Given the description of an element on the screen output the (x, y) to click on. 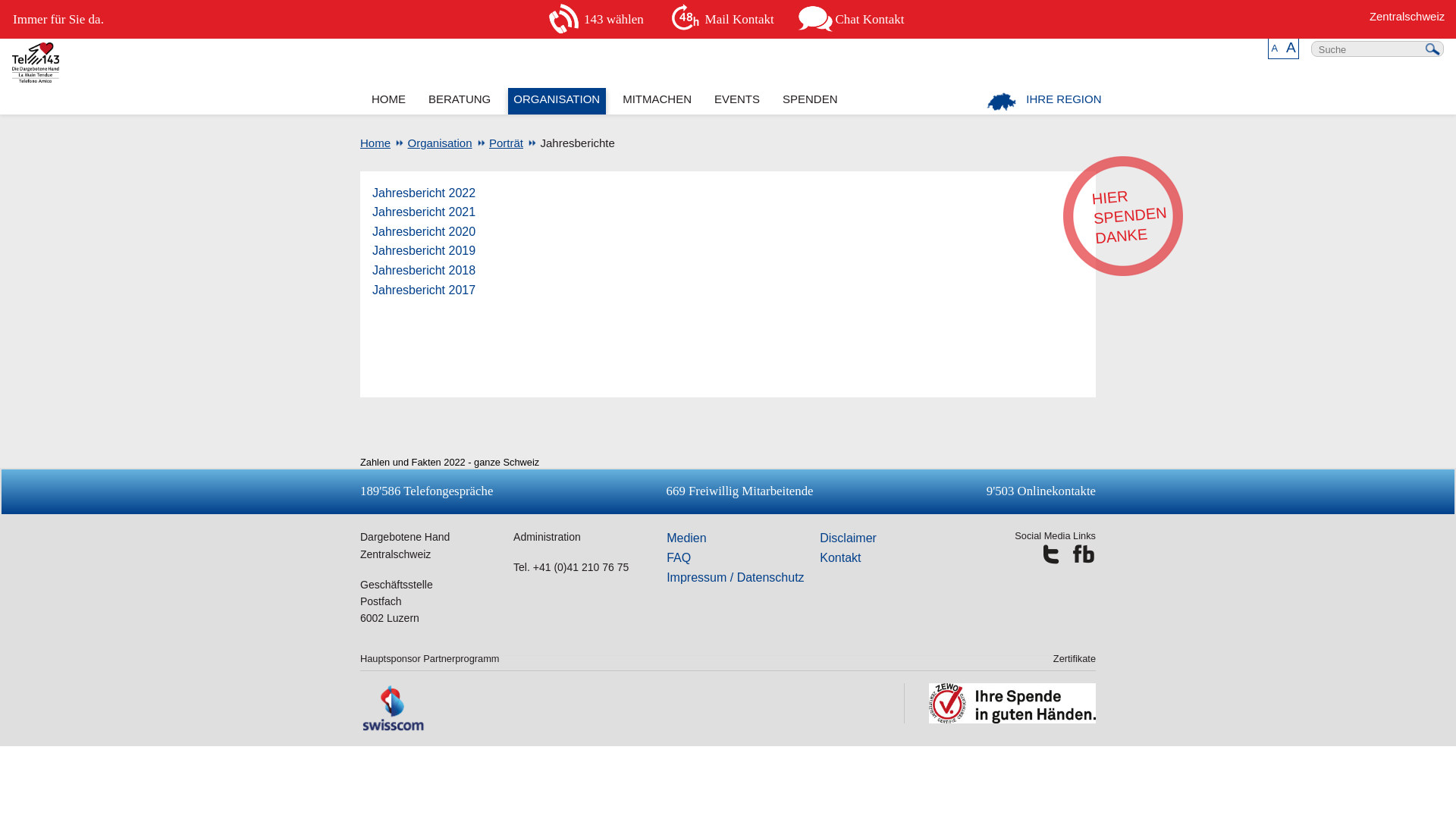
EVENTS Element type: text (736, 100)
669 Freiwillig Mitarbeitende Element type: text (739, 490)
Jahresbericht 2018 Element type: text (423, 269)
Jahresberichte Element type: text (570, 142)
Jahresbericht 2021 Element type: text (423, 211)
9'503 Onlinekontakte Element type: text (1040, 490)
A Element type: text (1290, 47)
Jahresbericht 2017 Element type: text (423, 289)
FAQ Element type: text (678, 557)
SPENDEN Element type: text (809, 100)
HIER SPENDEN DANKE Element type: text (1119, 212)
A Element type: text (1274, 47)
Disclaimer Element type: text (847, 537)
Jahresbericht 2019 Element type: text (423, 250)
Chat Kontakt Element type: text (853, 19)
Home Element type: text (375, 142)
BERATUNG Element type: text (459, 100)
Jahresbericht 2022 Element type: text (423, 192)
Medien Element type: text (686, 537)
Kontakt Element type: text (839, 557)
HOME Element type: text (388, 100)
Mail Kontakt Element type: text (723, 19)
Organisation Element type: text (432, 142)
Impressum / Datenschutz Element type: text (734, 577)
MITMACHEN Element type: text (657, 100)
Jahresbericht 2020 Element type: text (423, 231)
IHRE REGION Element type: text (1044, 100)
ORGANISATION Element type: text (556, 100)
